Given the description of an element on the screen output the (x, y) to click on. 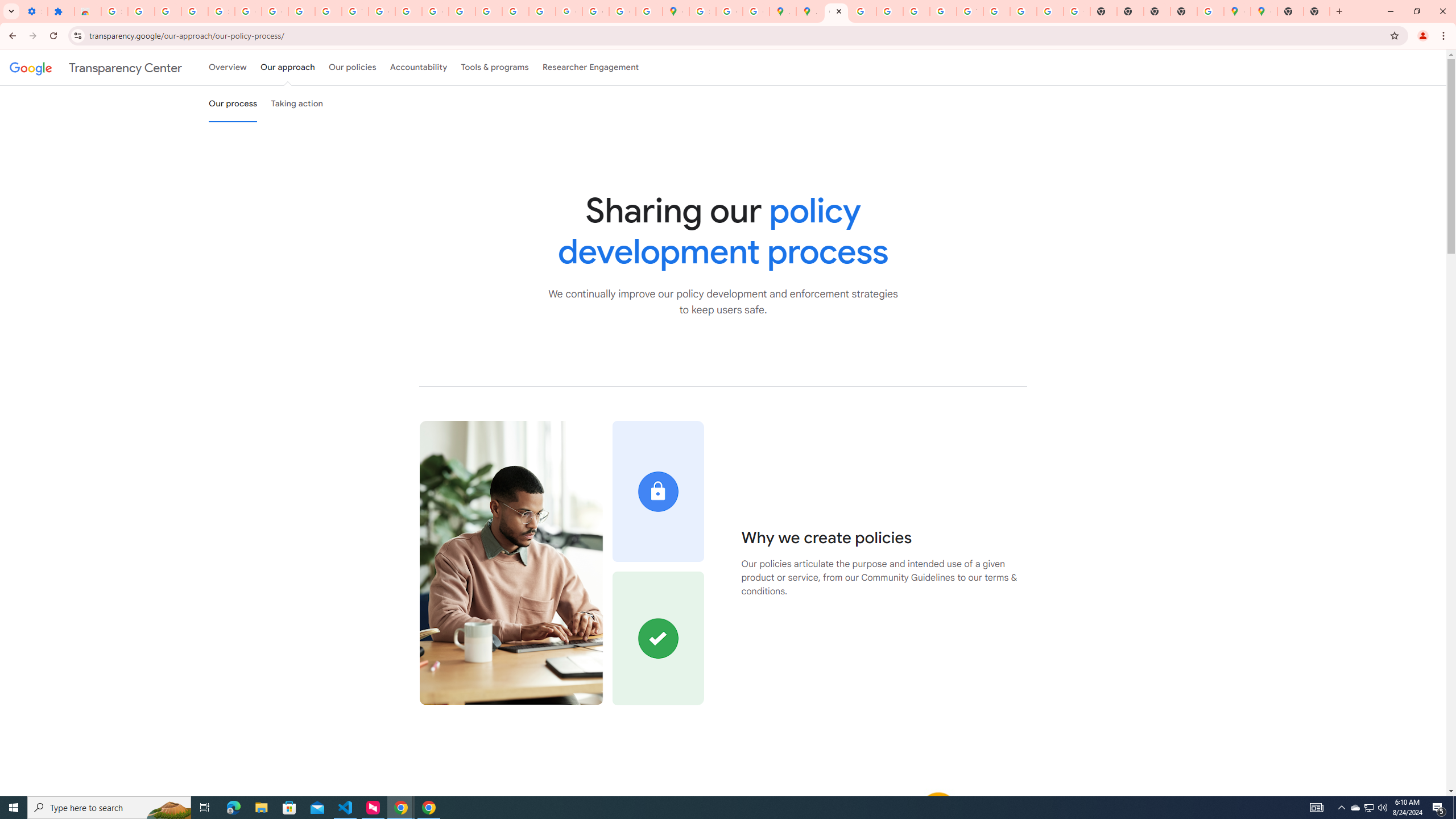
Reviews: Helix Fruit Jump Arcade Game (87, 11)
Privacy Help Center - Policies Help (889, 11)
Google Maps (1236, 11)
New Tab (1316, 11)
